Given the description of an element on the screen output the (x, y) to click on. 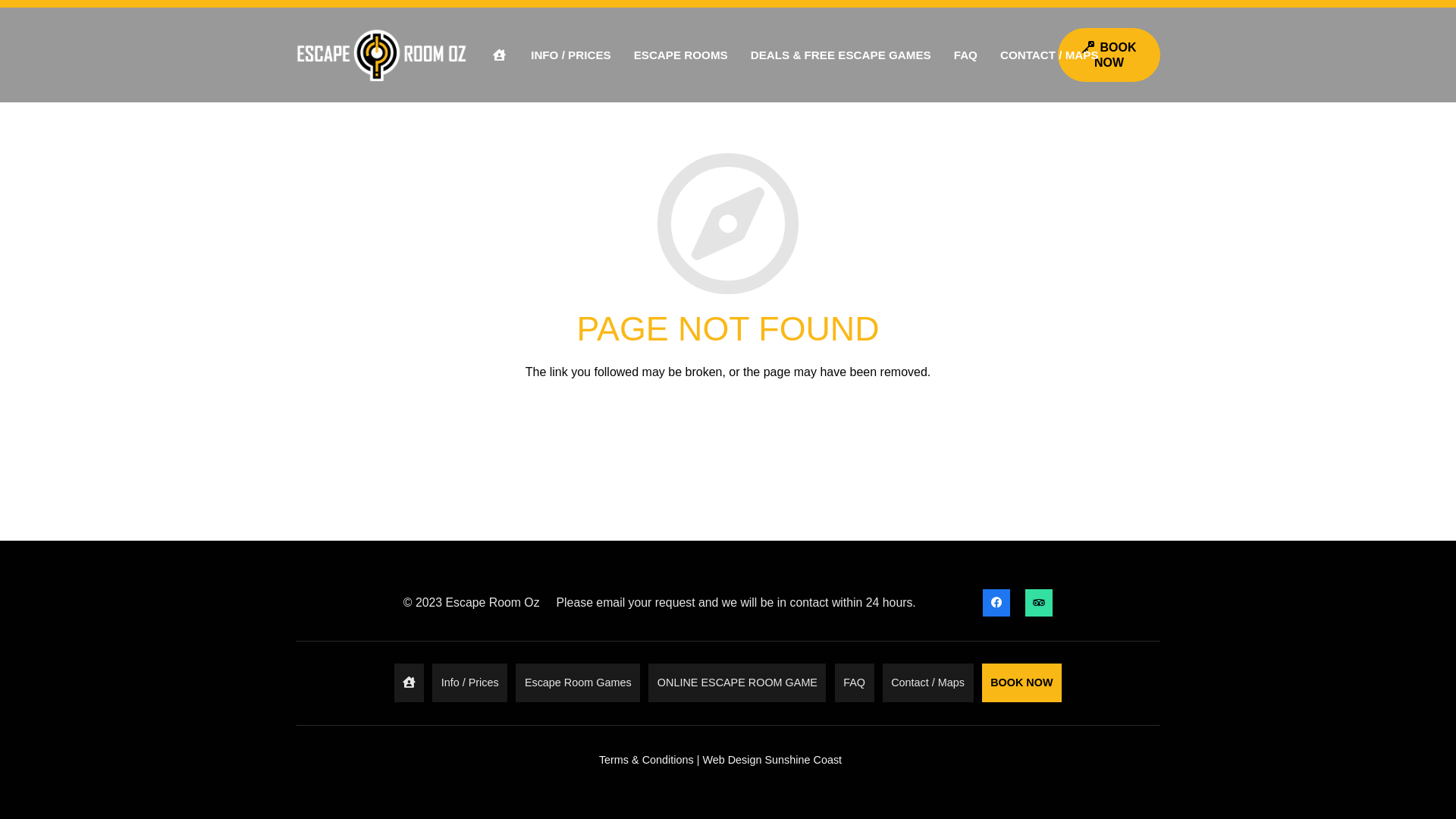
CONTACT / MAPS Element type: text (1049, 55)
BOOK NOW Element type: text (1108, 54)
ESCAPE ROOMS Element type: text (680, 55)
Info / Prices Element type: text (469, 682)
Web Design Sunshine Coast Element type: text (771, 759)
Contact / Maps Element type: text (927, 682)
Terms & Conditions Element type: text (646, 759)
FAQ Element type: text (854, 682)
INFO / PRICES Element type: text (570, 55)
DEALS & FREE ESCAPE GAMES Element type: text (840, 55)
ONLINE ESCAPE ROOM GAME Element type: text (736, 682)
Facebook Element type: hover (996, 602)
BOOK NOW Element type: text (1021, 682)
FAQ Element type: text (965, 55)
Tripadvisor Element type: hover (1038, 602)
Escape Room Games Element type: text (577, 682)
